Given the description of an element on the screen output the (x, y) to click on. 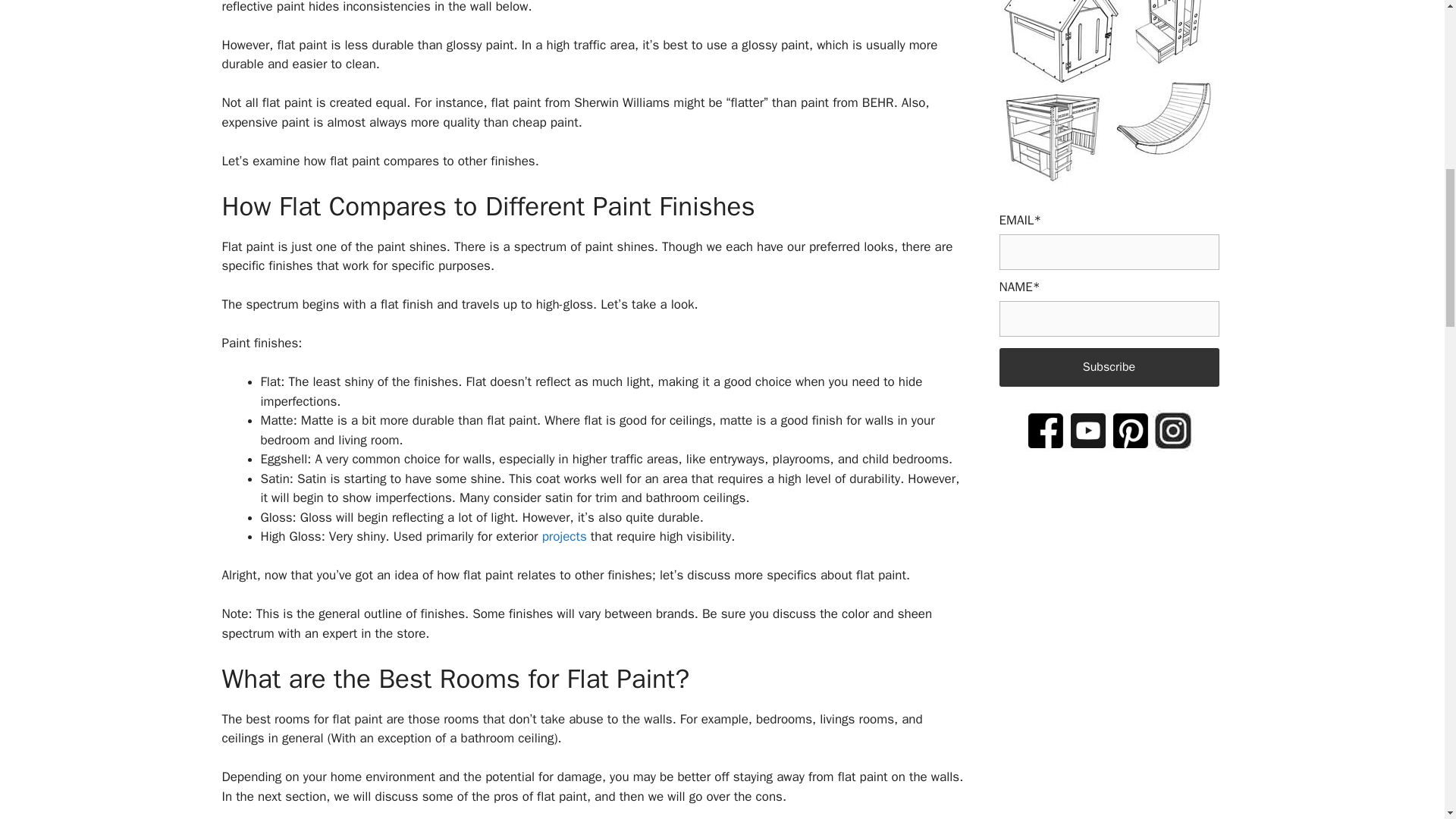
Subscribe (1109, 367)
Subscribe (1109, 367)
projects (563, 536)
